Given the description of an element on the screen output the (x, y) to click on. 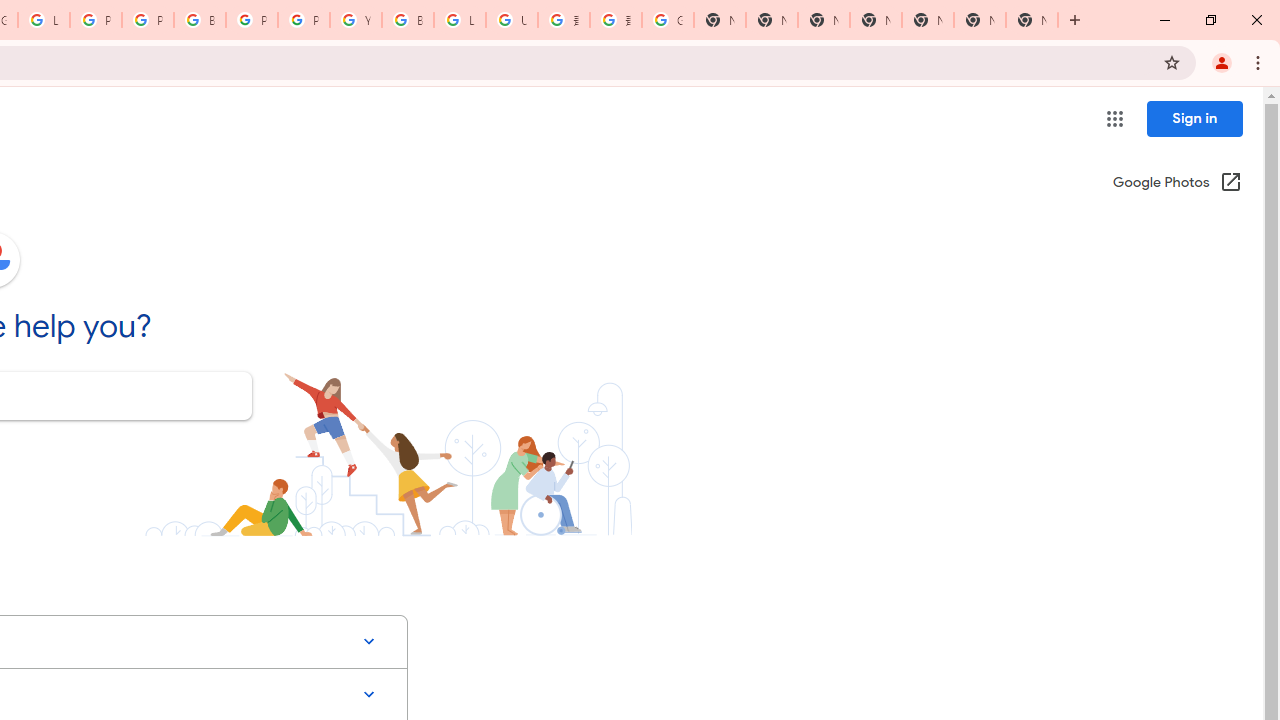
New Tab (875, 20)
Privacy Help Center - Policies Help (147, 20)
New Tab (1032, 20)
YouTube (355, 20)
Privacy Help Center - Policies Help (95, 20)
